Given the description of an element on the screen output the (x, y) to click on. 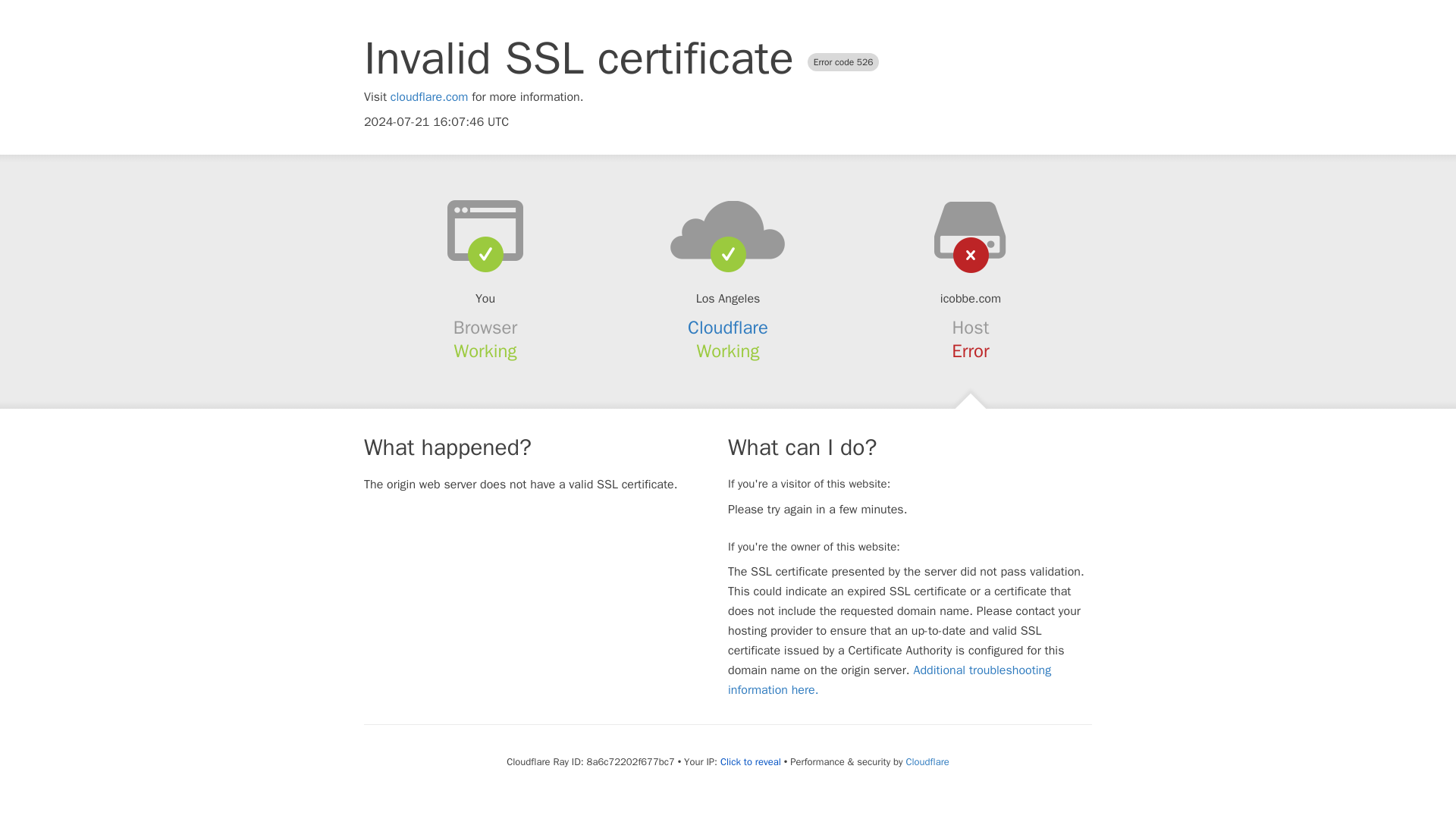
Cloudflare (727, 327)
cloudflare.com (429, 96)
Additional troubleshooting information here. (889, 679)
Click to reveal (750, 762)
Cloudflare (927, 761)
